Given the description of an element on the screen output the (x, y) to click on. 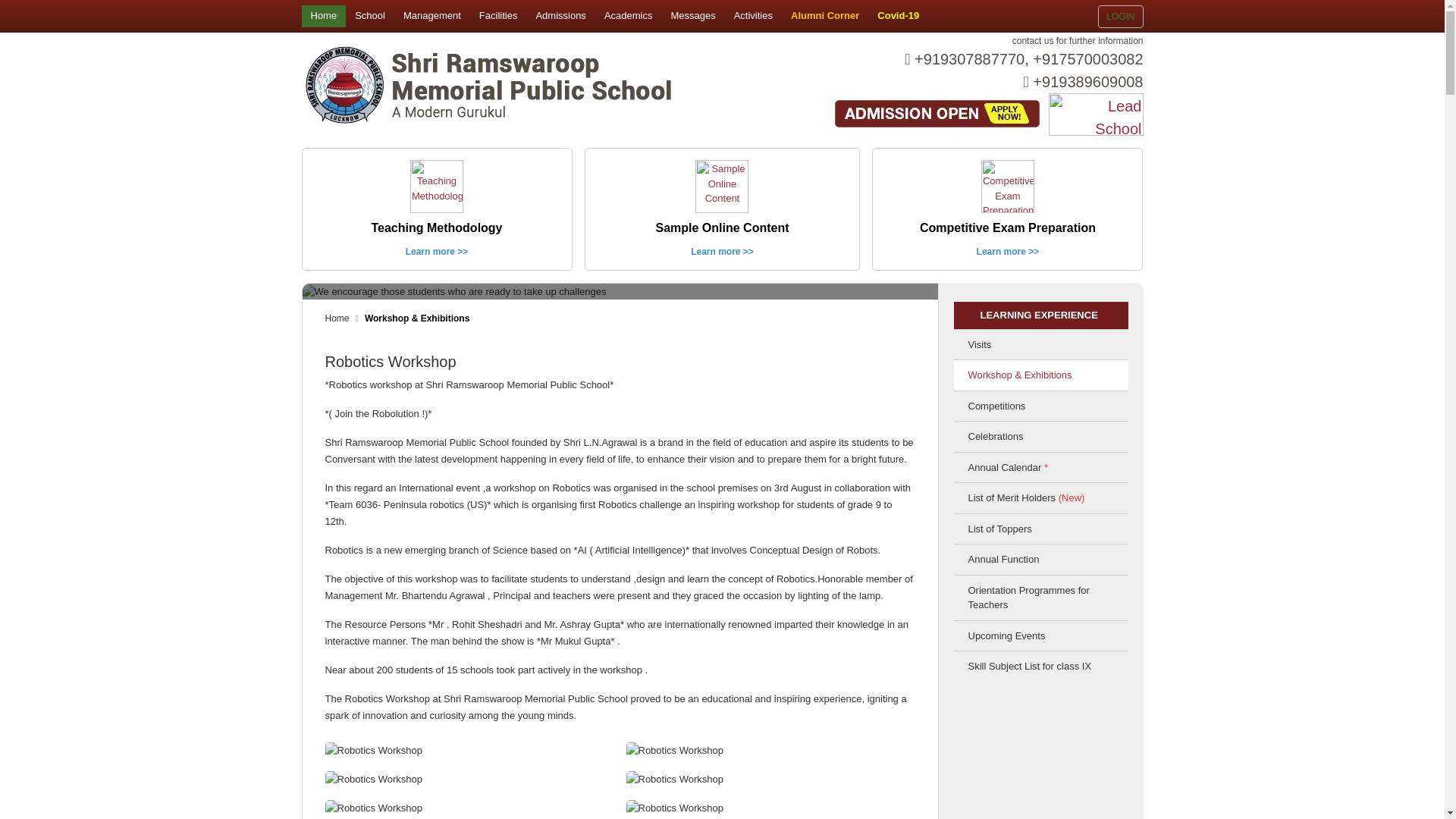
Home (323, 15)
Academics (628, 15)
Messages (692, 15)
School (370, 15)
Activities (753, 15)
Admissions (559, 15)
Management (432, 15)
Facilities (498, 15)
